Given the description of an element on the screen output the (x, y) to click on. 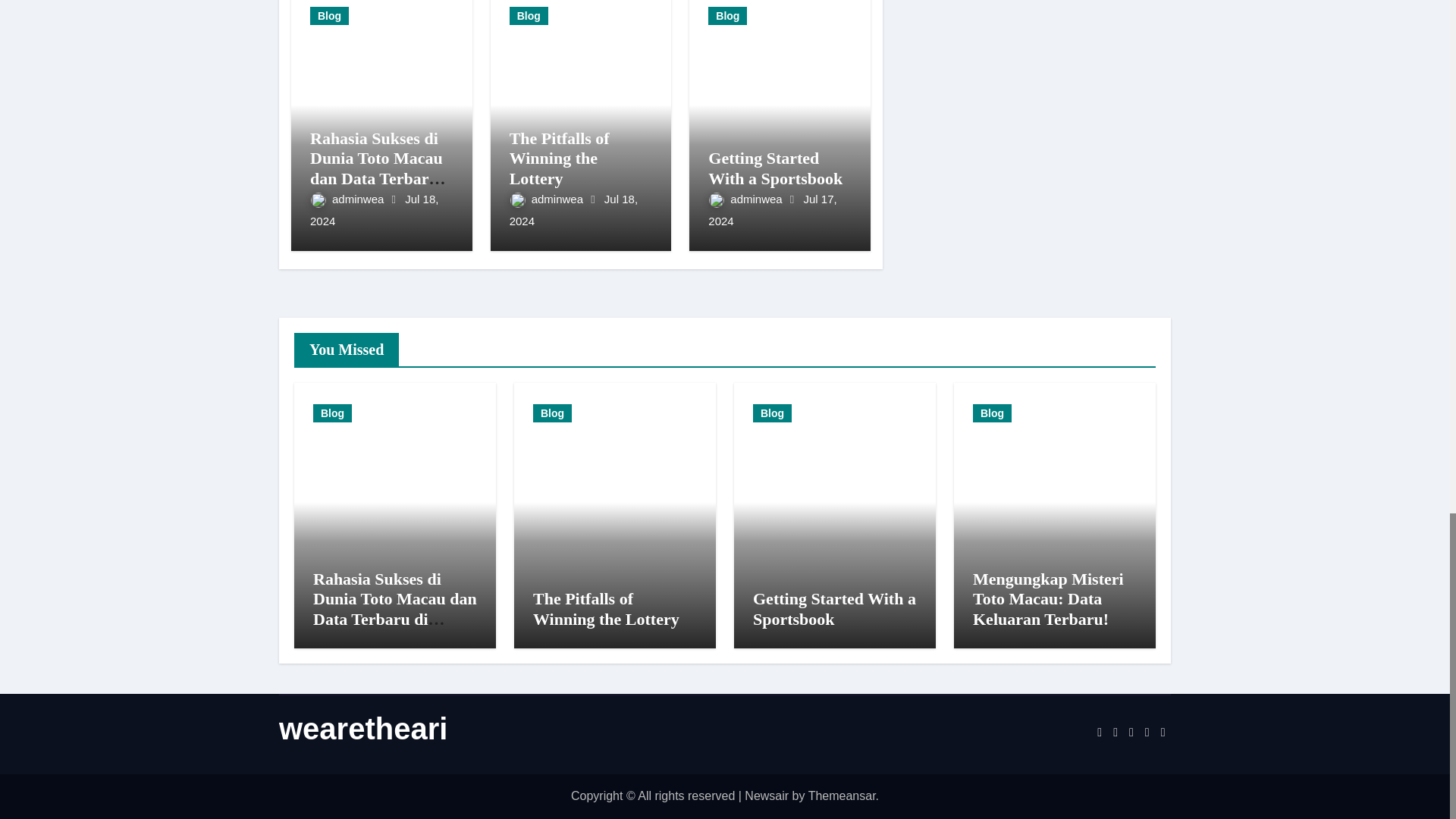
Permalink to: Getting Started With a Sportsbook (775, 167)
Permalink to: Getting Started With a Sportsbook (833, 608)
Permalink to: The Pitfalls of Winning the Lottery (605, 608)
Permalink to: The Pitfalls of Winning the Lottery (559, 158)
